Given the description of an element on the screen output the (x, y) to click on. 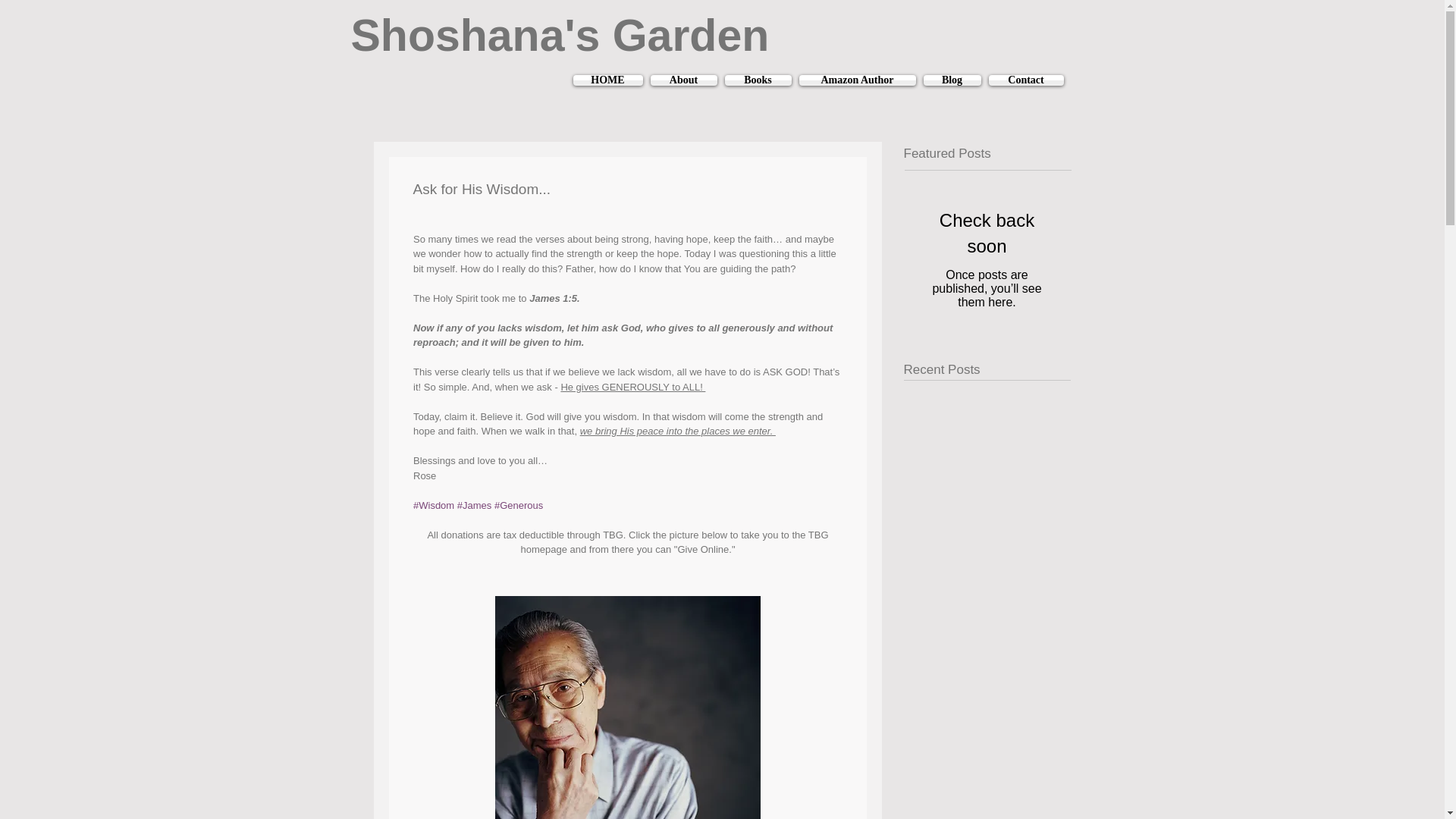
Amazon Author (856, 80)
Shoshana's Garden (559, 35)
About (683, 80)
Blog (951, 80)
Contact (1023, 80)
HOME (609, 80)
Books (757, 80)
